Given the description of an element on the screen output the (x, y) to click on. 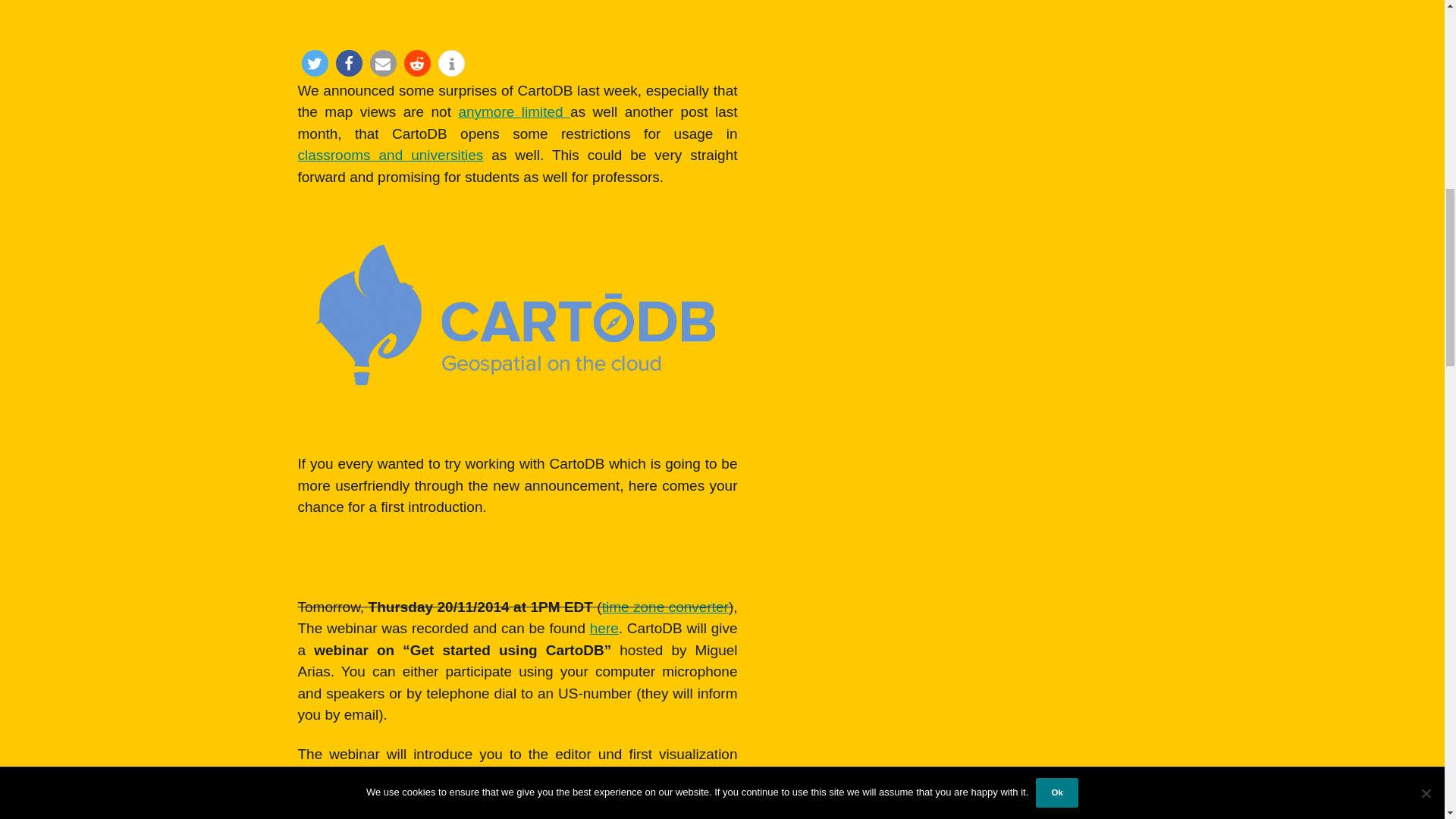
Share on Facebook (347, 62)
anymore limited (514, 111)
Share on Twitter (315, 62)
time zone (665, 606)
CartoDB news (514, 111)
Send by email (382, 62)
classrooms and universities (390, 154)
Share on Reddit (416, 62)
CartoDB in classroom (390, 154)
More information (451, 62)
